Given the description of an element on the screen output the (x, y) to click on. 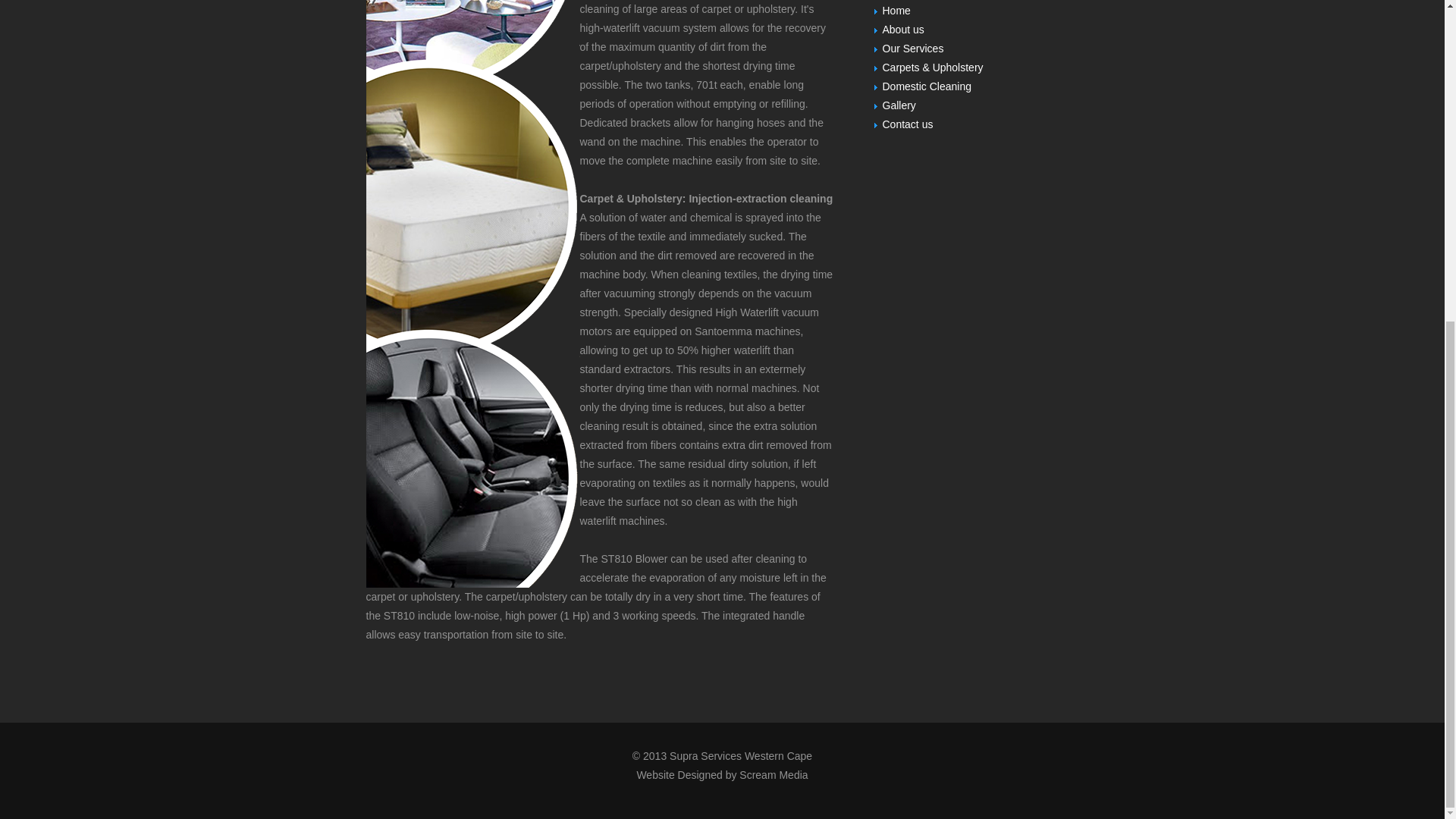
About us (903, 29)
Scream Media (773, 775)
Gallery (898, 105)
Our Services (912, 48)
Domestic Cleaning (927, 86)
Home (896, 10)
Contact us (907, 123)
